Given the description of an element on the screen output the (x, y) to click on. 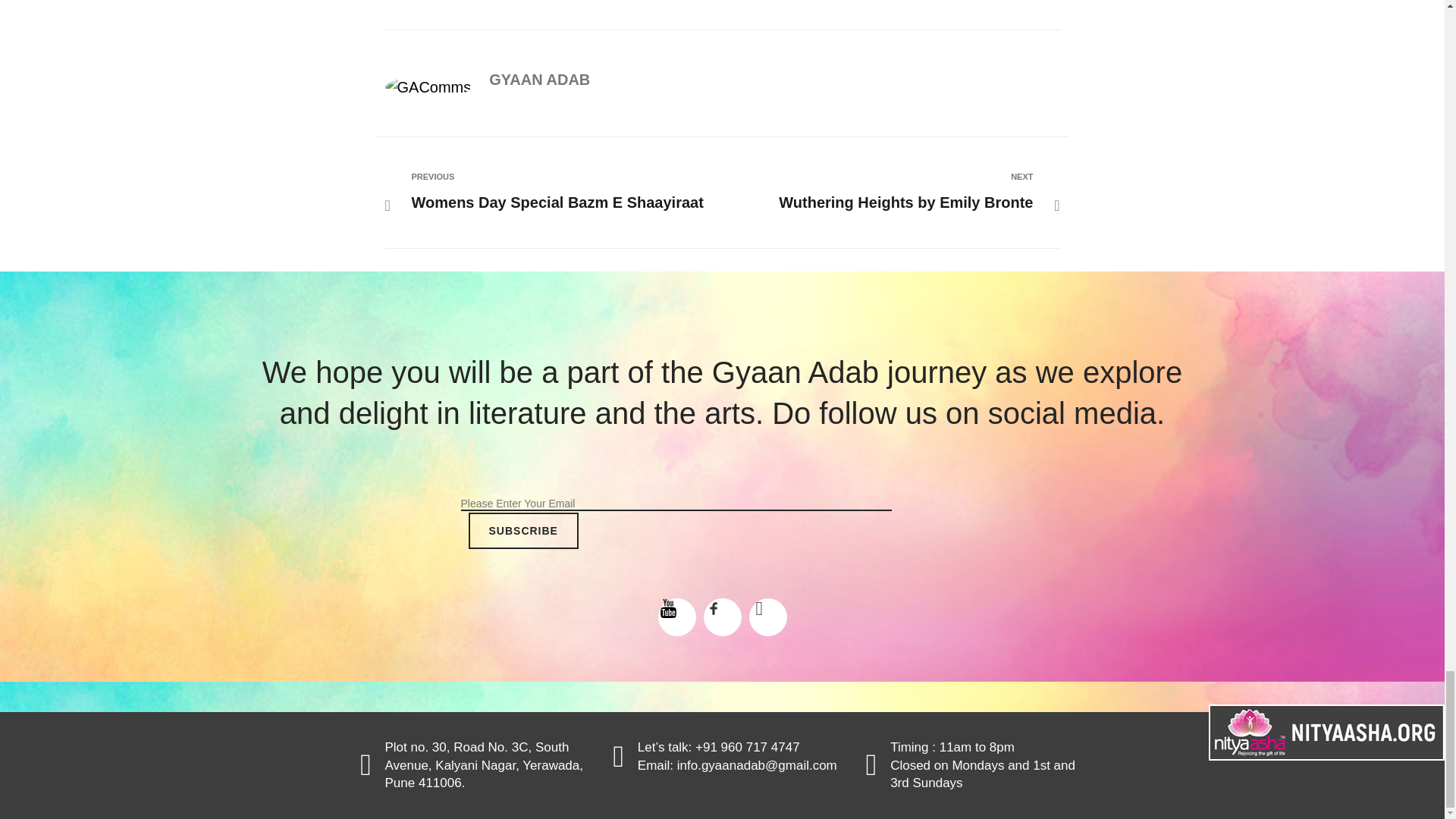
Subscribe (560, 191)
Subscribe (523, 530)
GYAAN ADAB (523, 530)
